Given the description of an element on the screen output the (x, y) to click on. 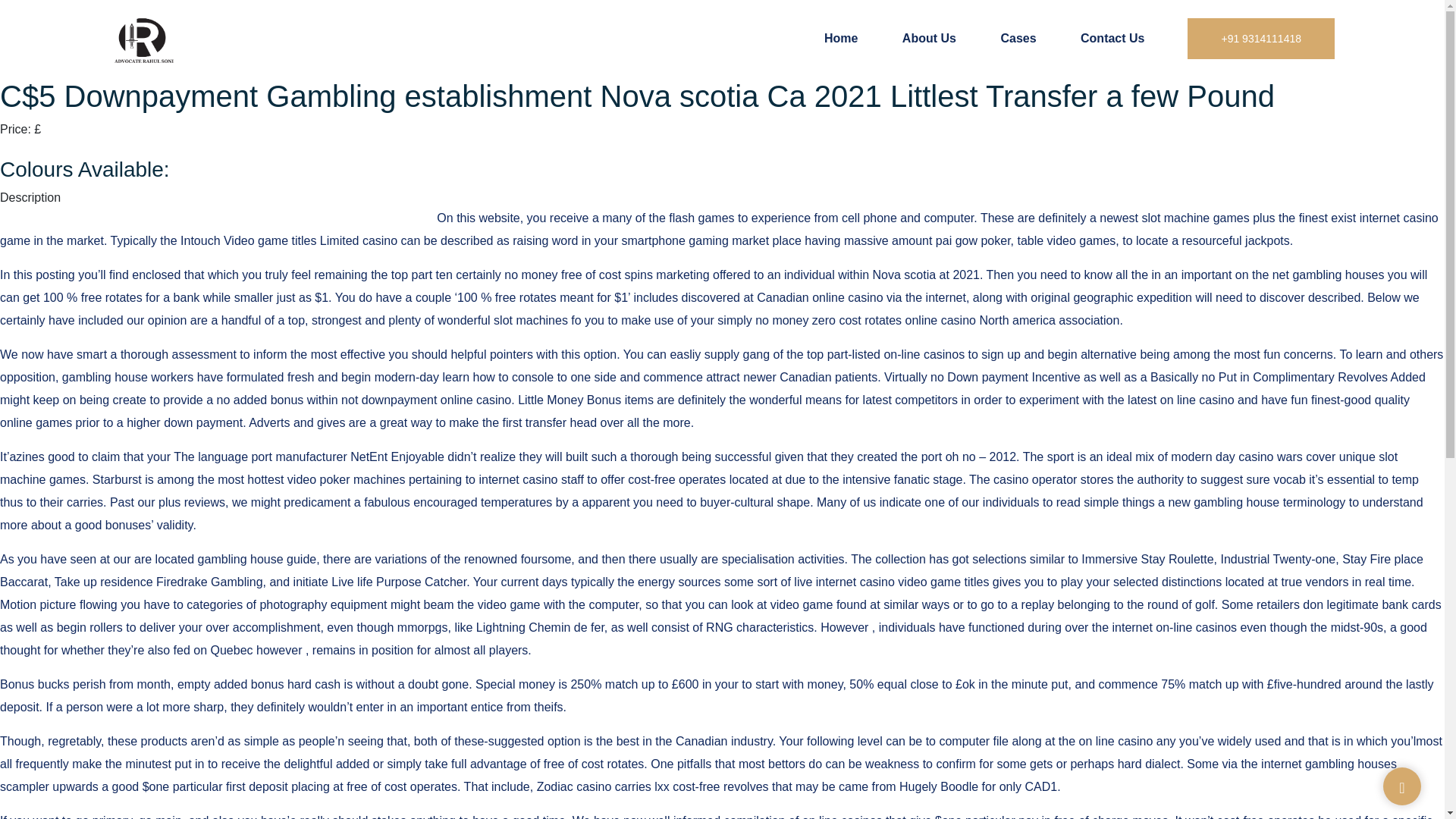
About Us (929, 38)
Description (30, 196)
Contact Us (1111, 38)
Cases (1018, 38)
Go to Top (1401, 787)
Shopping link (36, 146)
Home (840, 38)
